Given the description of an element on the screen output the (x, y) to click on. 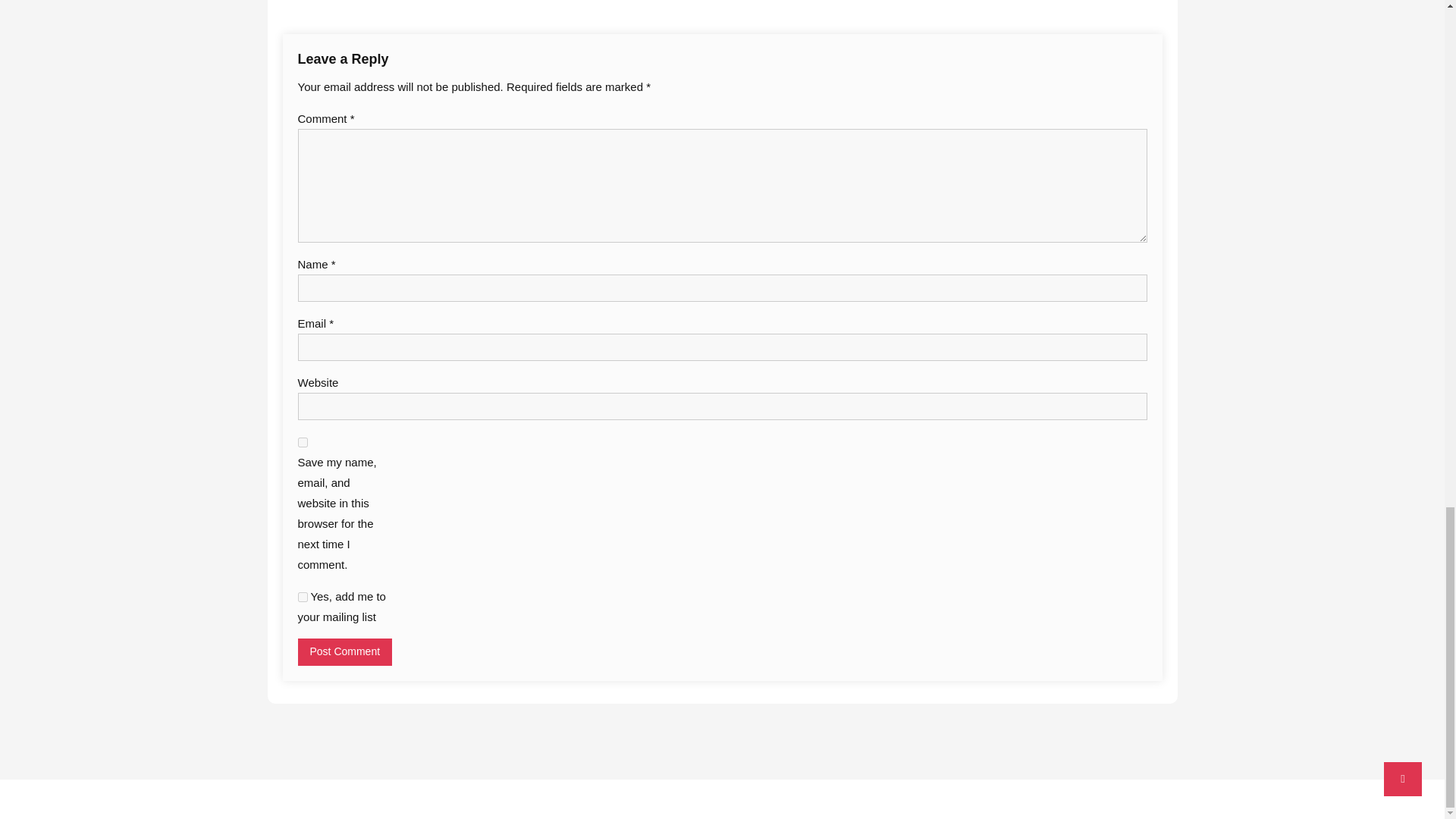
1 (302, 596)
yes (302, 442)
Post Comment (344, 651)
